Given the description of an element on the screen output the (x, y) to click on. 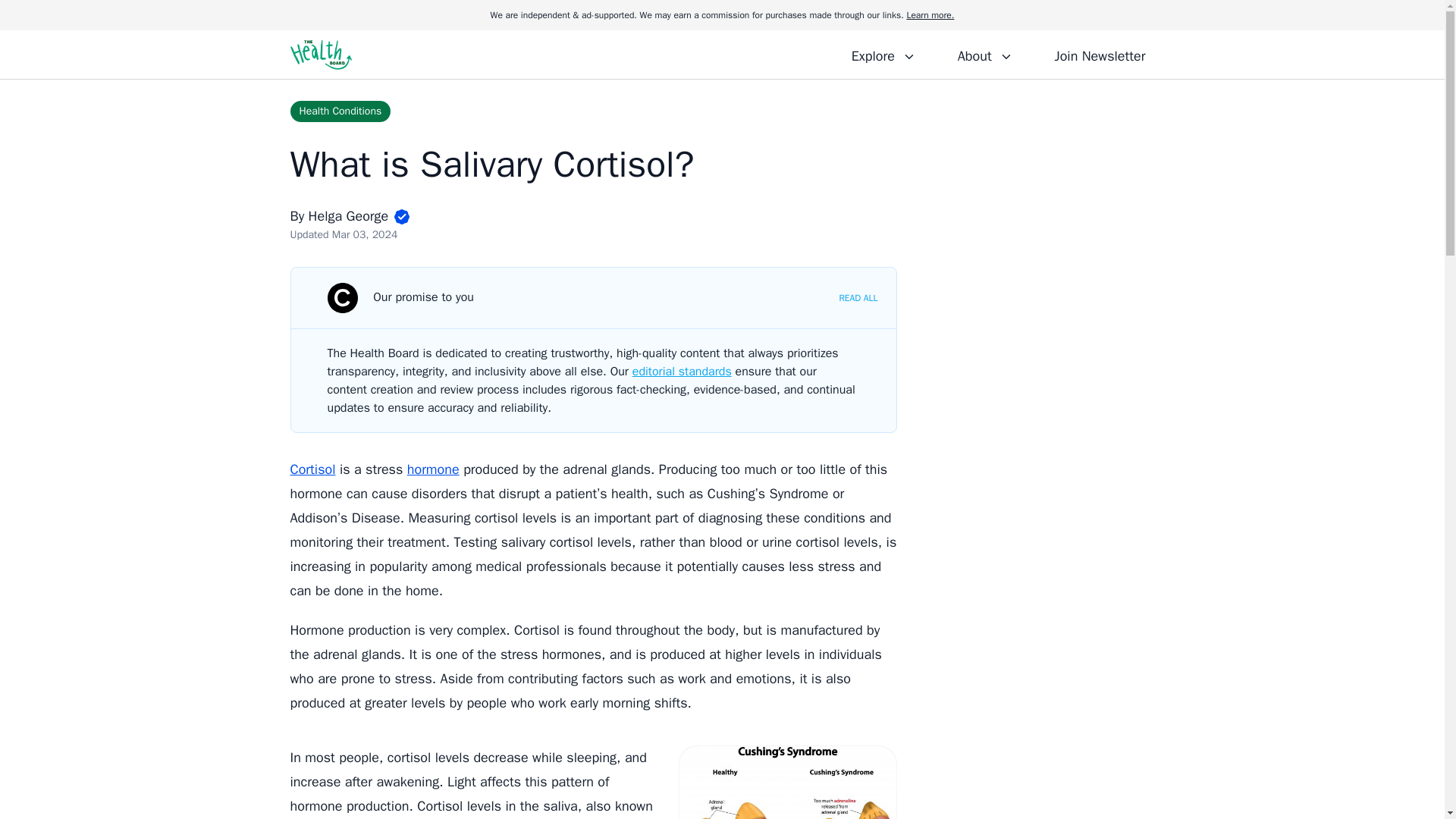
READ ALL (857, 297)
Health Conditions (339, 111)
Learn more. (929, 15)
Join Newsletter (1099, 54)
editorial standards (681, 371)
Explore (883, 54)
hormone (433, 469)
Cortisol (311, 469)
About (984, 54)
